Given the description of an element on the screen output the (x, y) to click on. 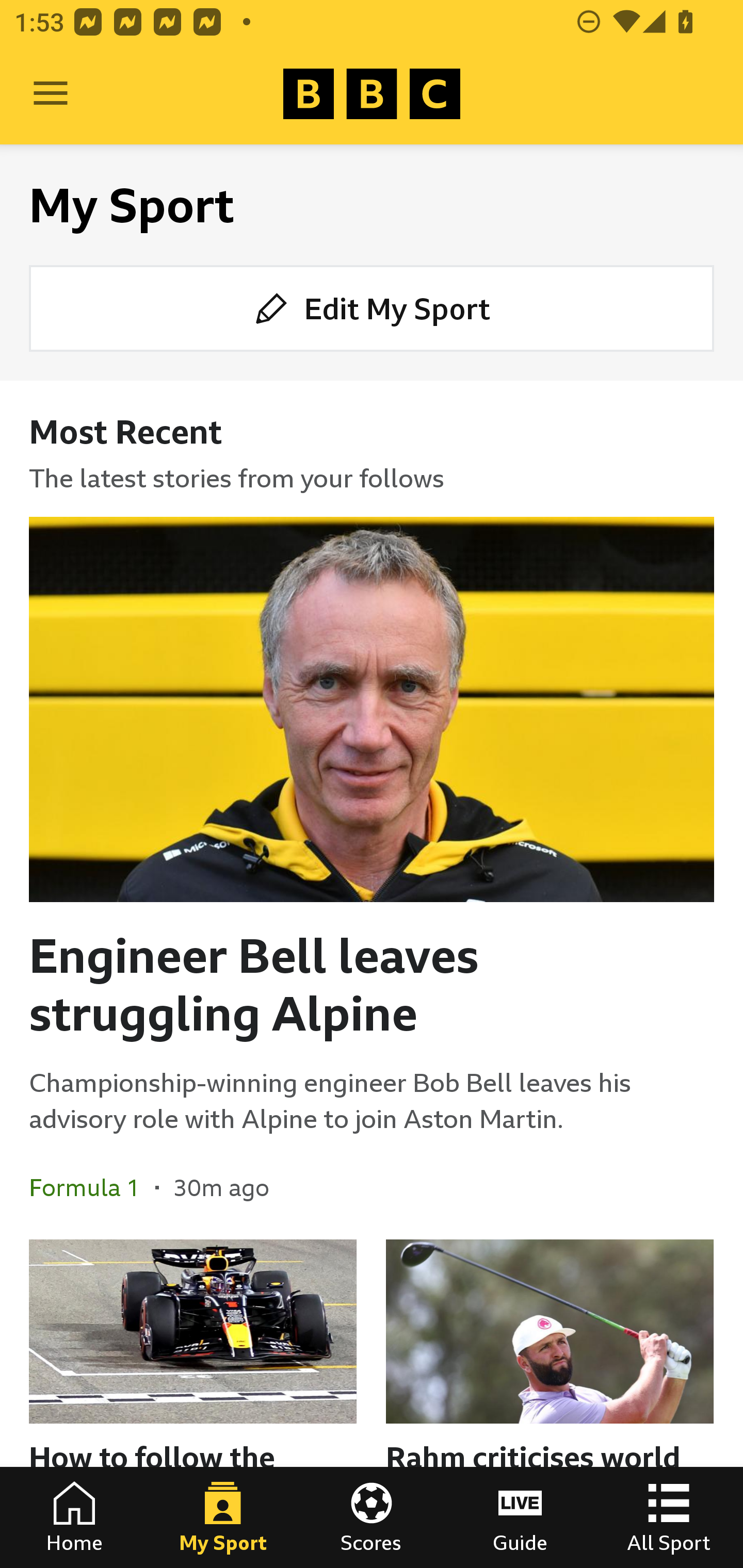
Open Menu (50, 93)
Edit My Sport (371, 307)
Home (74, 1517)
Scores (371, 1517)
Guide (519, 1517)
All Sport (668, 1517)
